Given the description of an element on the screen output the (x, y) to click on. 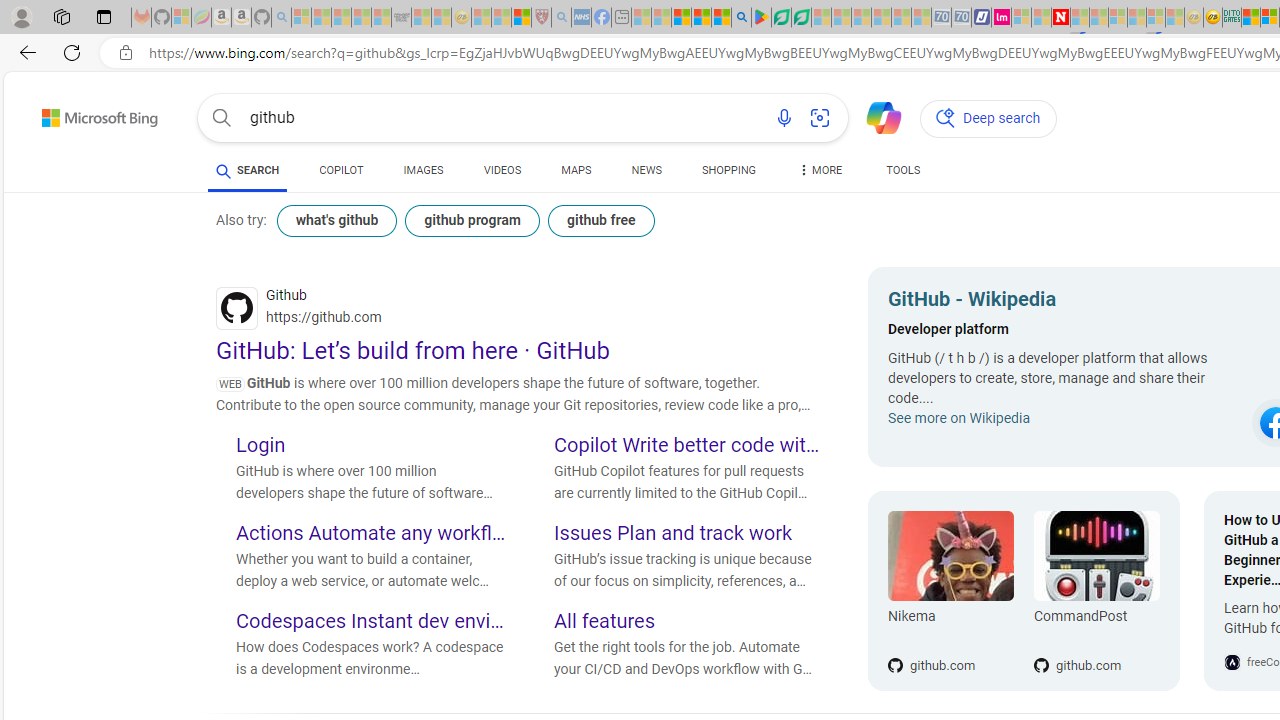
Nikema Nikema github.com (950, 591)
SEARCH (247, 170)
NEWS (646, 170)
Copilot Write better code with AI (689, 446)
TOOLS (903, 173)
TOOLS (903, 170)
github program (471, 220)
Global web icon (237, 308)
